Given the description of an element on the screen output the (x, y) to click on. 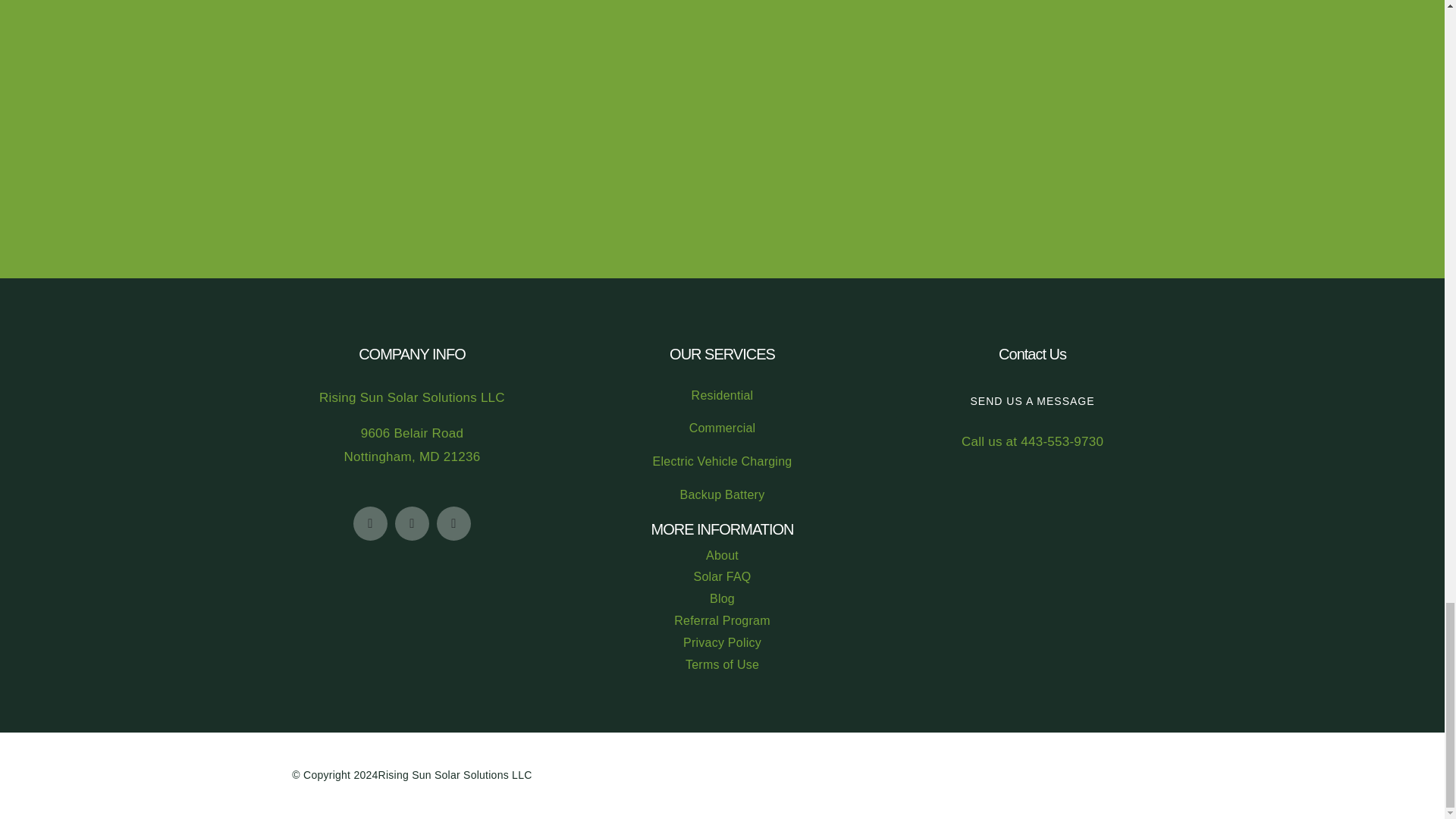
LinkedIn (453, 523)
Facebook (370, 523)
Commercial (722, 428)
About (722, 556)
Electric Vehicle Charging (722, 462)
Solar FAQ (722, 577)
Backup Battery (722, 495)
Residential (722, 395)
Instagram (411, 523)
